Given the description of an element on the screen output the (x, y) to click on. 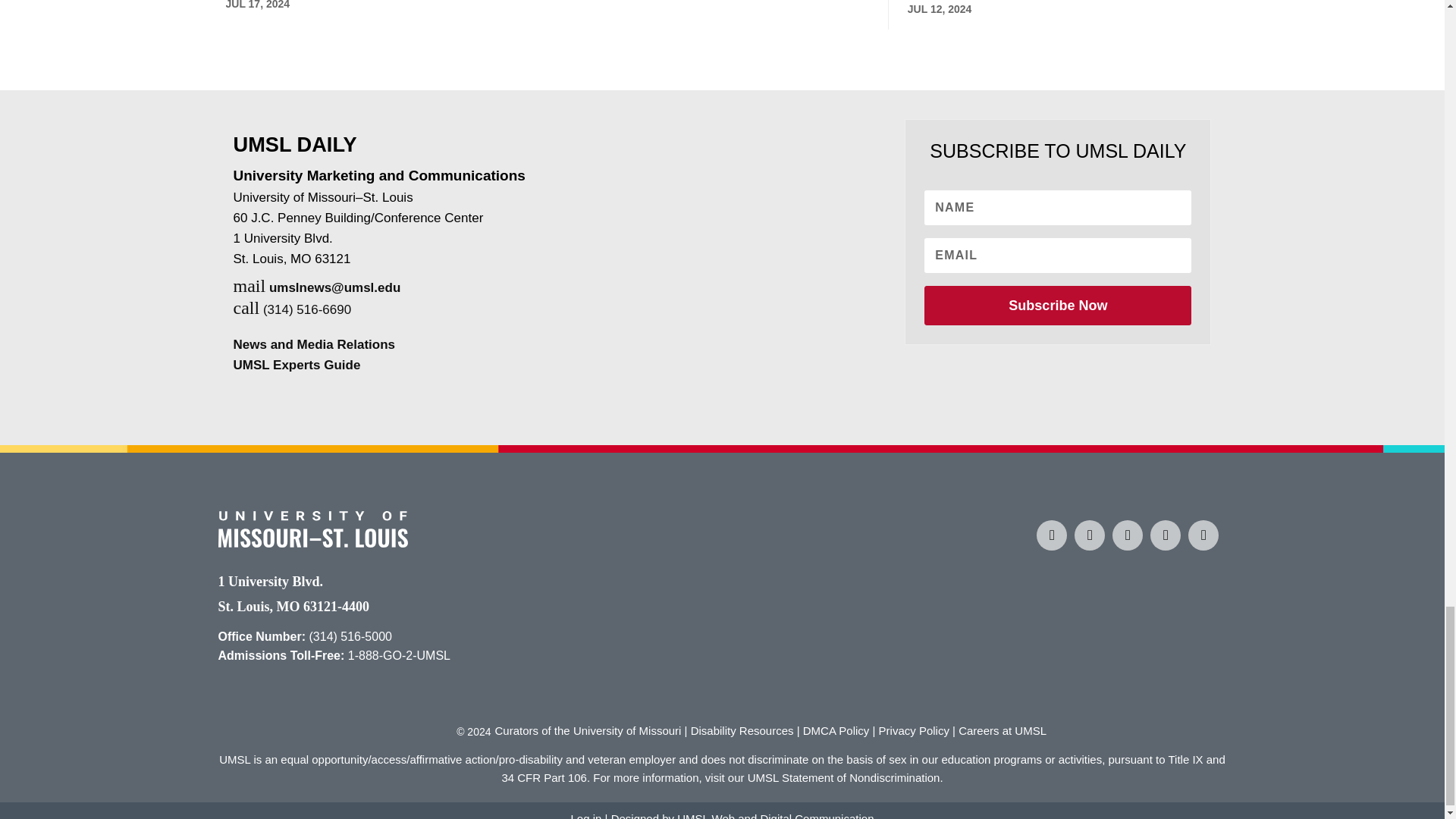
Visit UMSL on TikTok (1127, 535)
UMSL Campus Calendar (1203, 535)
Visit UMSL on Facebook (1051, 534)
Visit UMSL on Instagram (1089, 535)
Curators of the University of Missouri (588, 730)
UMSL News and Media Relations (314, 344)
Disablity resources (741, 730)
Office Telephone Number (349, 635)
University of Missouri St. Louis (312, 542)
UMSL Experts Guide (296, 364)
Visit UMSL on LinkedIn (1165, 535)
Visit UMSL on Facebook (1051, 535)
Admissions Toll-Free Number (398, 655)
